Given the description of an element on the screen output the (x, y) to click on. 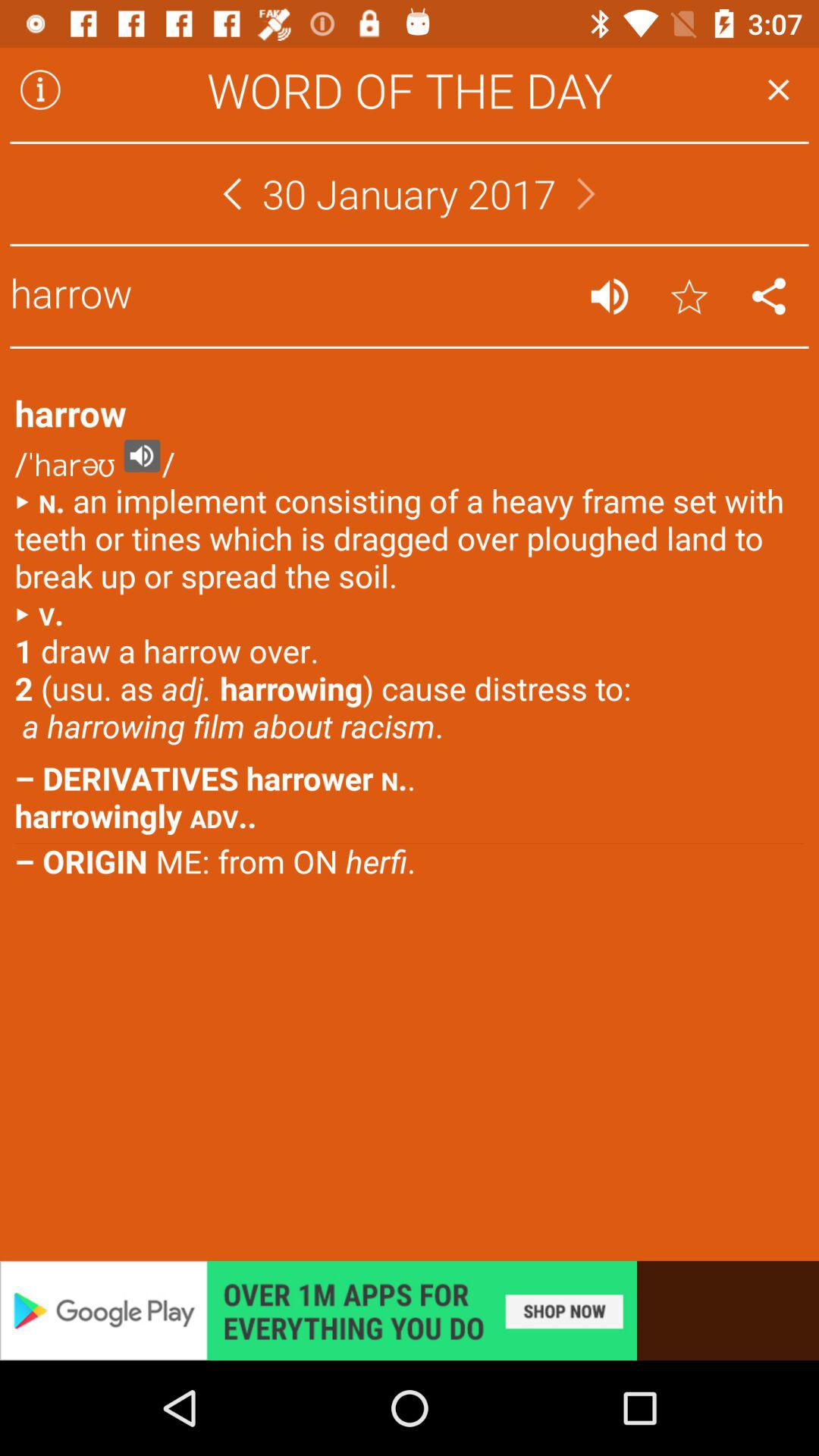
share (768, 296)
